Given the description of an element on the screen output the (x, y) to click on. 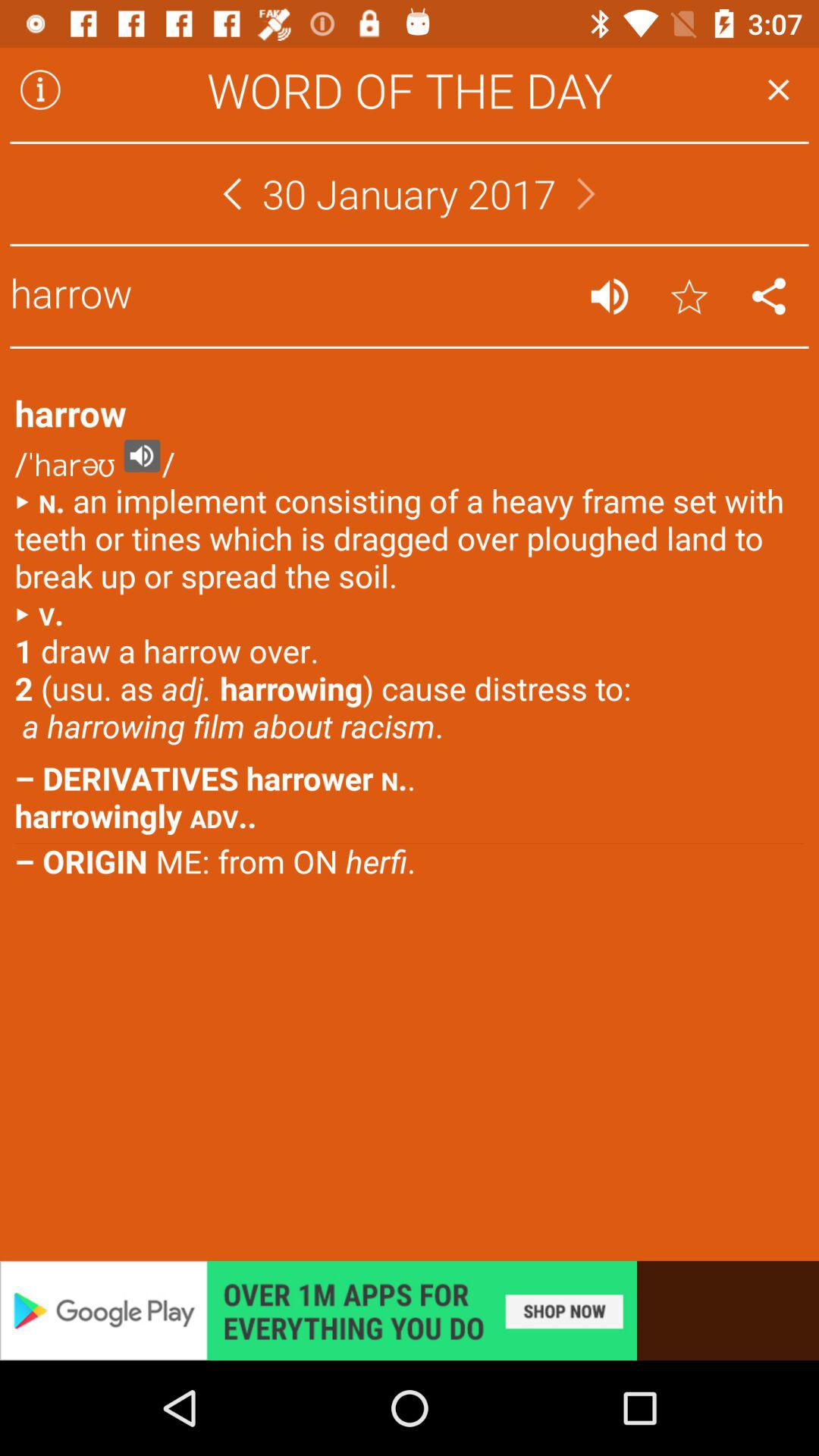
share (768, 296)
